Given the description of an element on the screen output the (x, y) to click on. 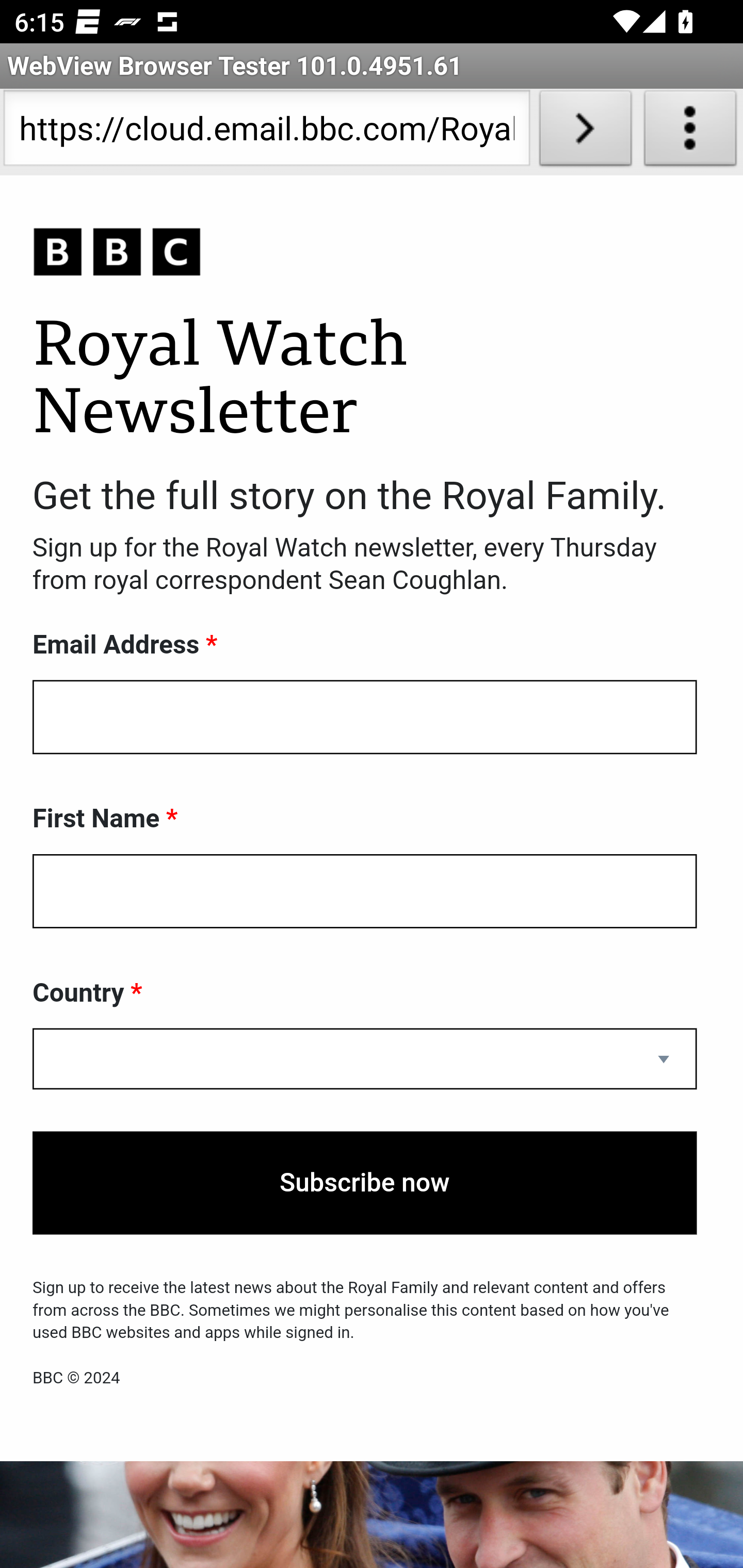
Load URL (585, 132)
About WebView (690, 132)
BBC (364, 253)
Subscribe now (364, 1182)
